Given the description of an element on the screen output the (x, y) to click on. 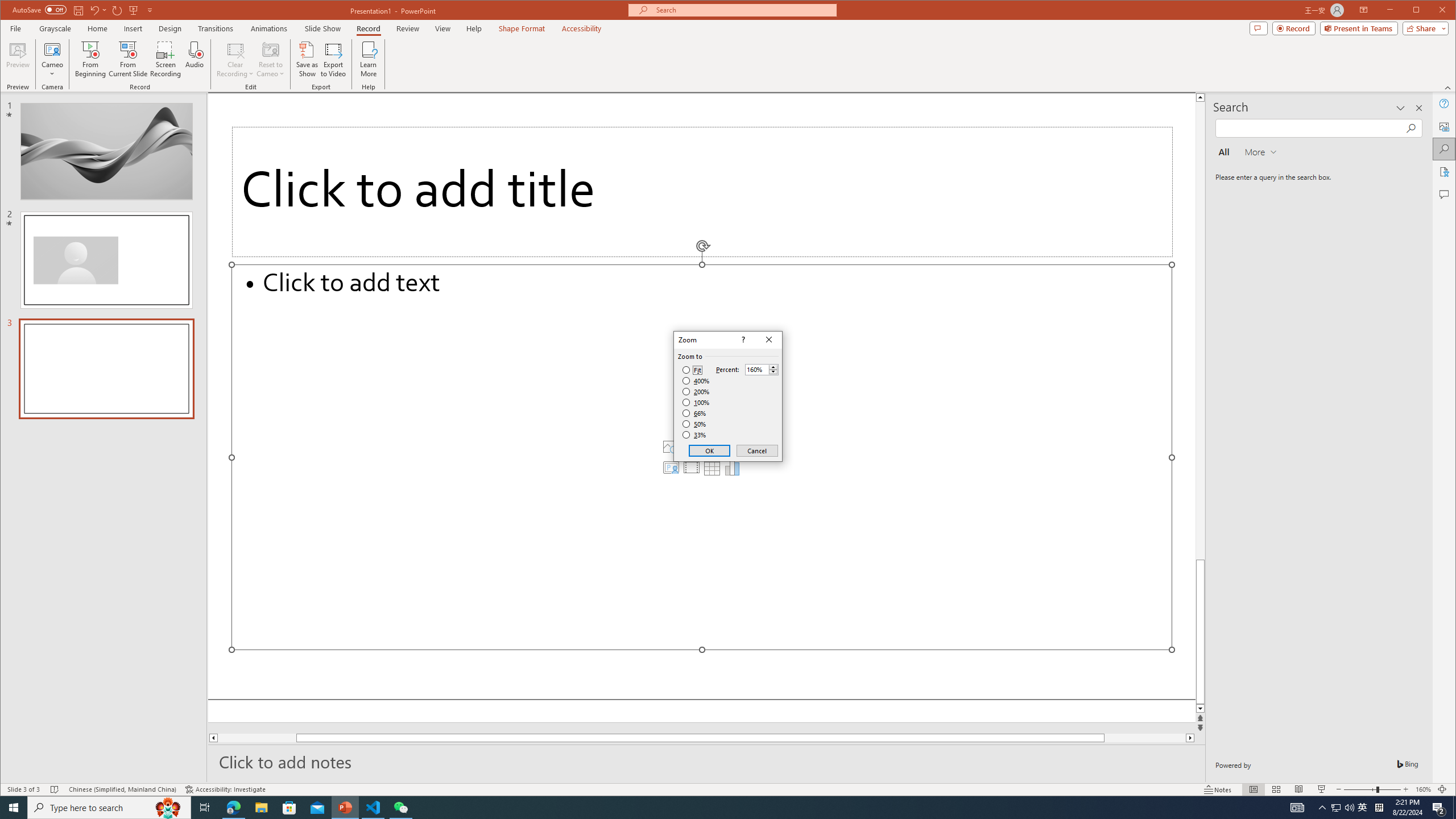
Zoom 160% (1422, 789)
Learn More (368, 59)
Save as Show (307, 59)
200% (696, 391)
Cancel (756, 450)
